Given the description of an element on the screen output the (x, y) to click on. 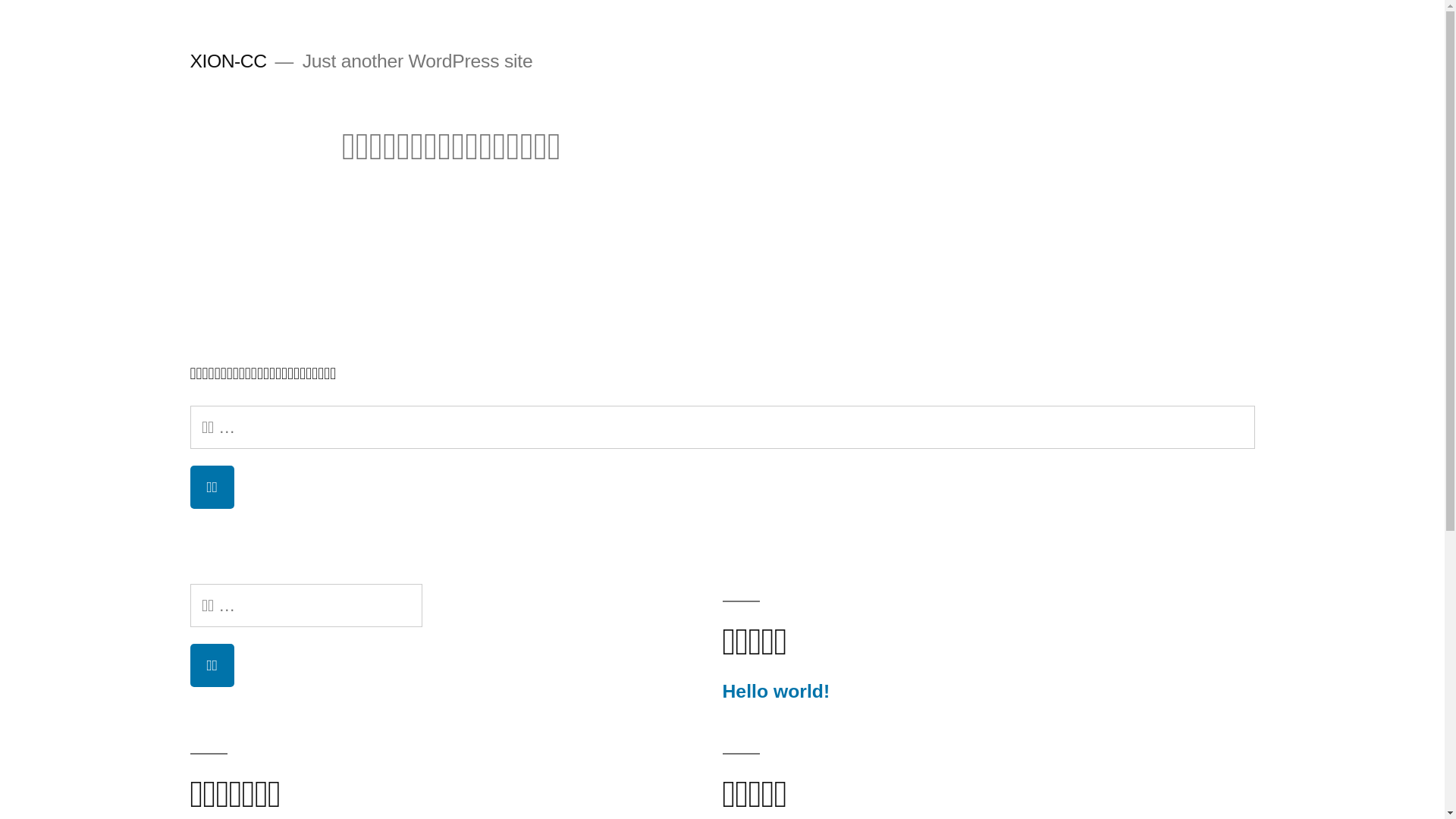
Hello world! Element type: text (775, 690)
XION-CC Element type: text (227, 60)
